Given the description of an element on the screen output the (x, y) to click on. 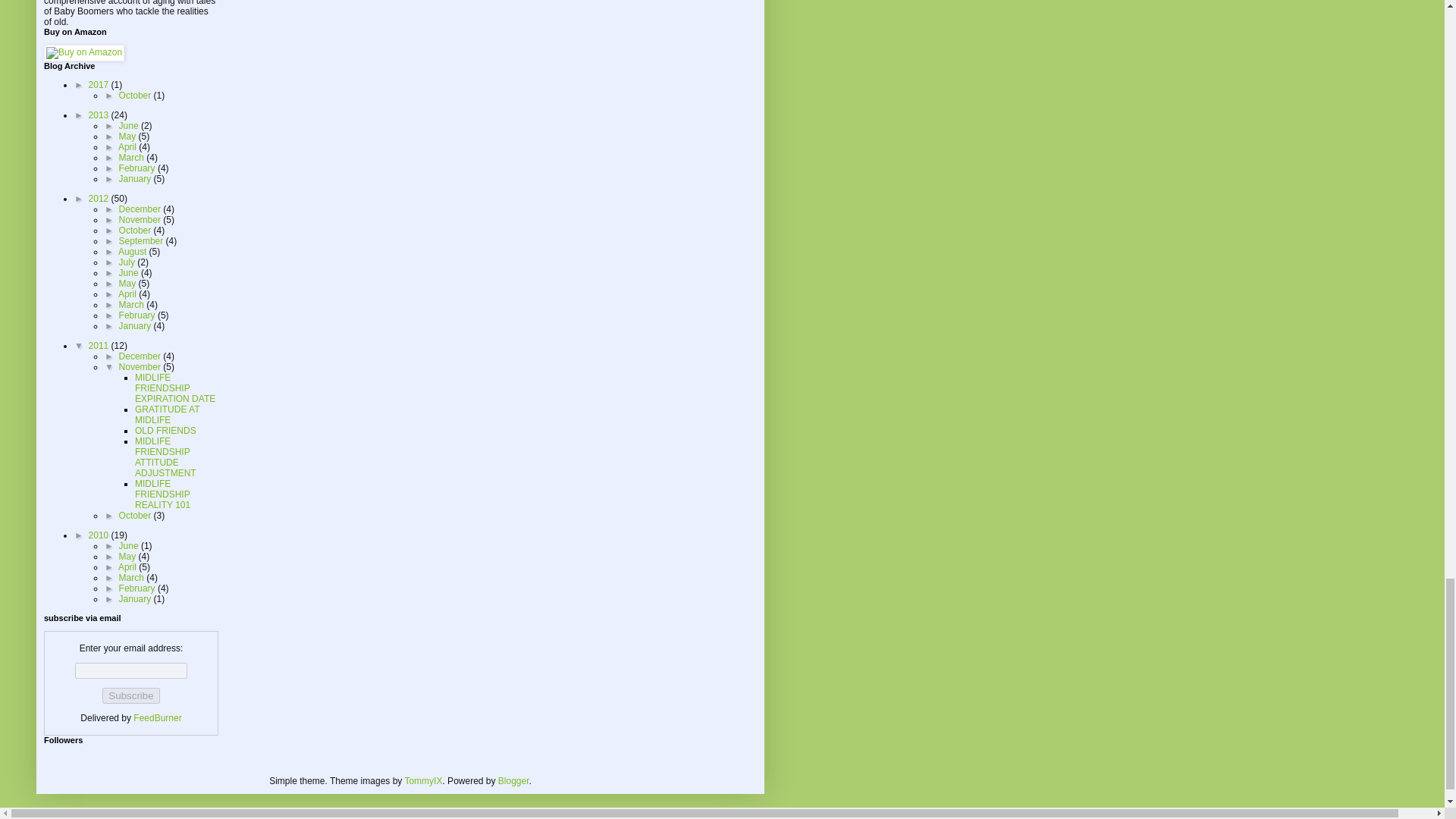
October (136, 95)
Subscribe (129, 695)
2017 (100, 84)
